Given the description of an element on the screen output the (x, y) to click on. 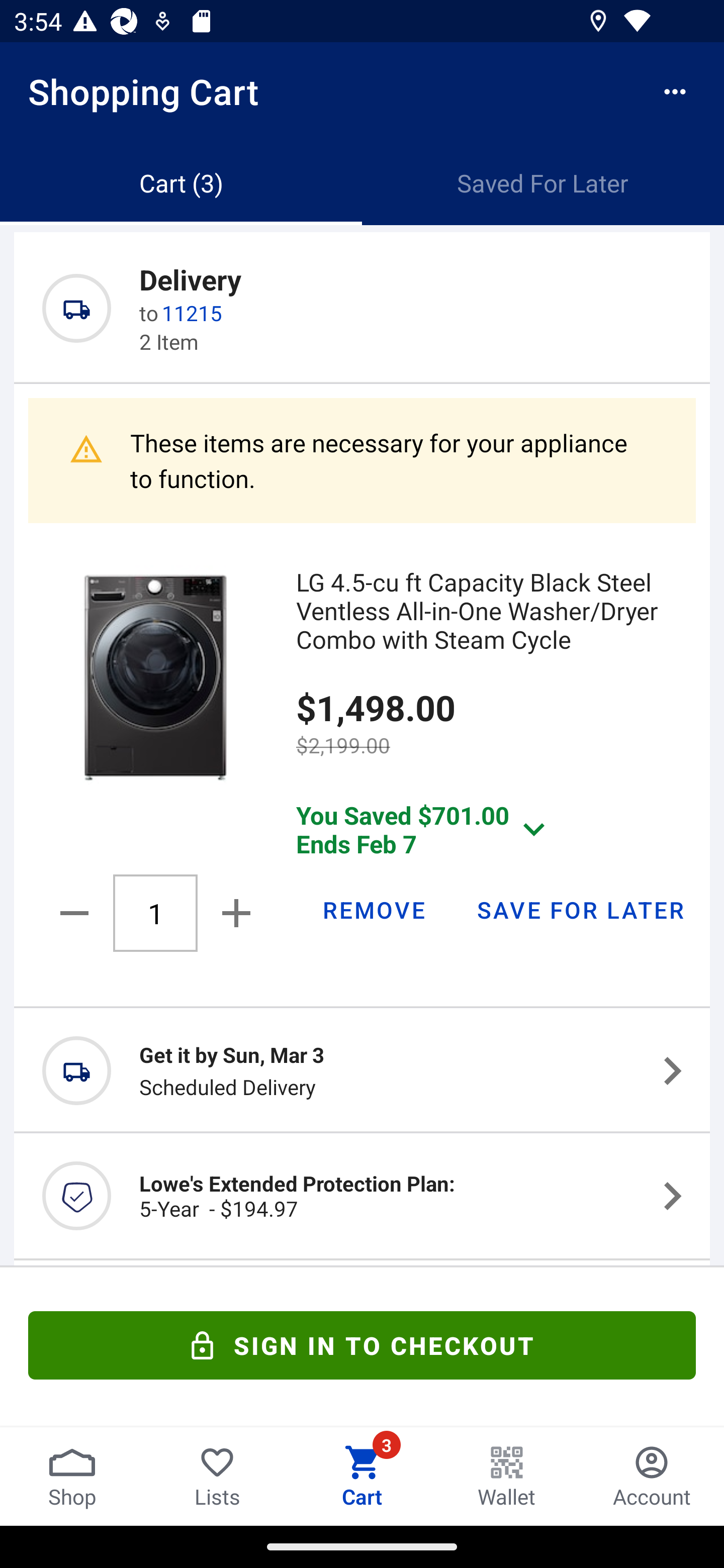
More options (674, 91)
Saved For Later (543, 183)
Delivery (190, 278)
to (148, 312)
11215 (192, 312)
You Saved $701.00
Ends Feb 7 (425, 827)
REMOVE (373, 909)
SAVE FOR LATER (580, 909)
1 (154, 912)
increase quantity (232, 913)
decrease quantity (76, 913)
Get it by Sun, Mar 3 Scheduled Delivery (361, 1070)
Lowe's Extended Protection Plan:
5-Year  - $194.97 (361, 1196)
SIGN IN TO CHECKOUT Sign In to Checkout (361, 1344)
Shop (72, 1475)
Lists (216, 1475)
Wallet (506, 1475)
Account (651, 1475)
